Given the description of an element on the screen output the (x, y) to click on. 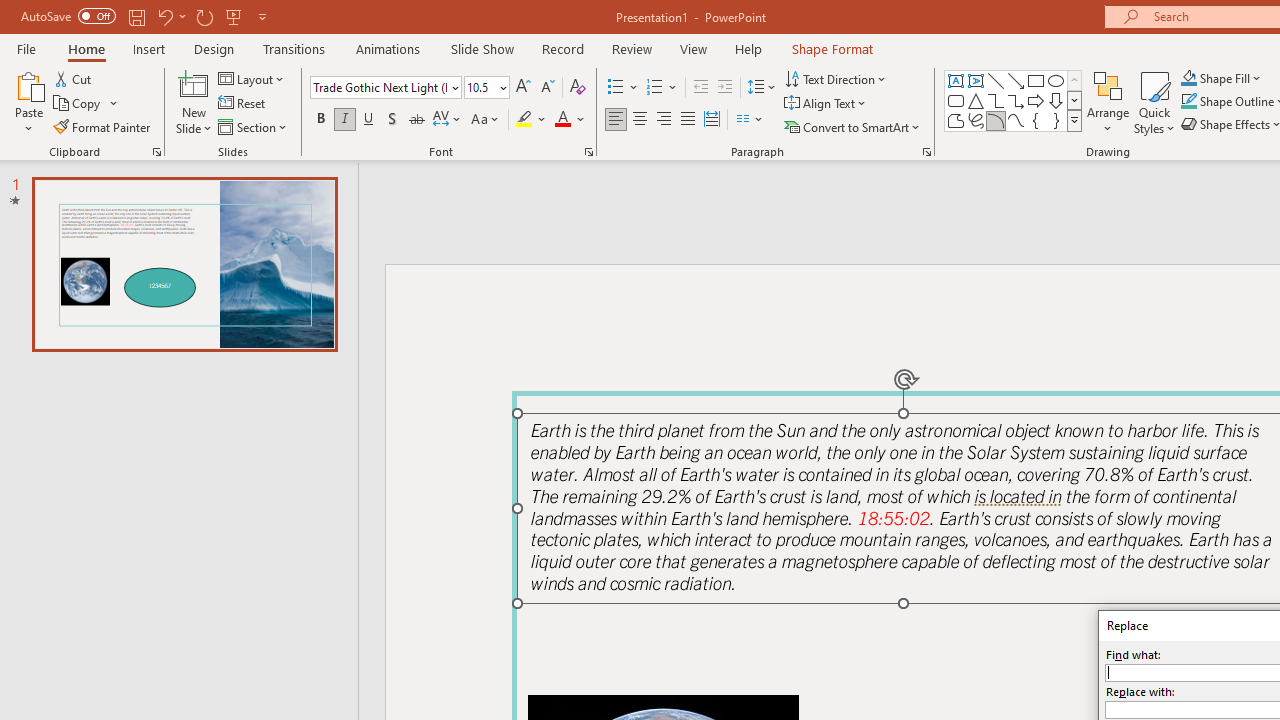
Rectangle: Rounded Corners (955, 100)
Underline (369, 119)
Increase Font Size (522, 87)
Connector: Elbow Arrow (1016, 100)
Shape Format (832, 48)
AutomationID: ShapesInsertGallery (1014, 100)
Arc (995, 120)
